Given the description of an element on the screen output the (x, y) to click on. 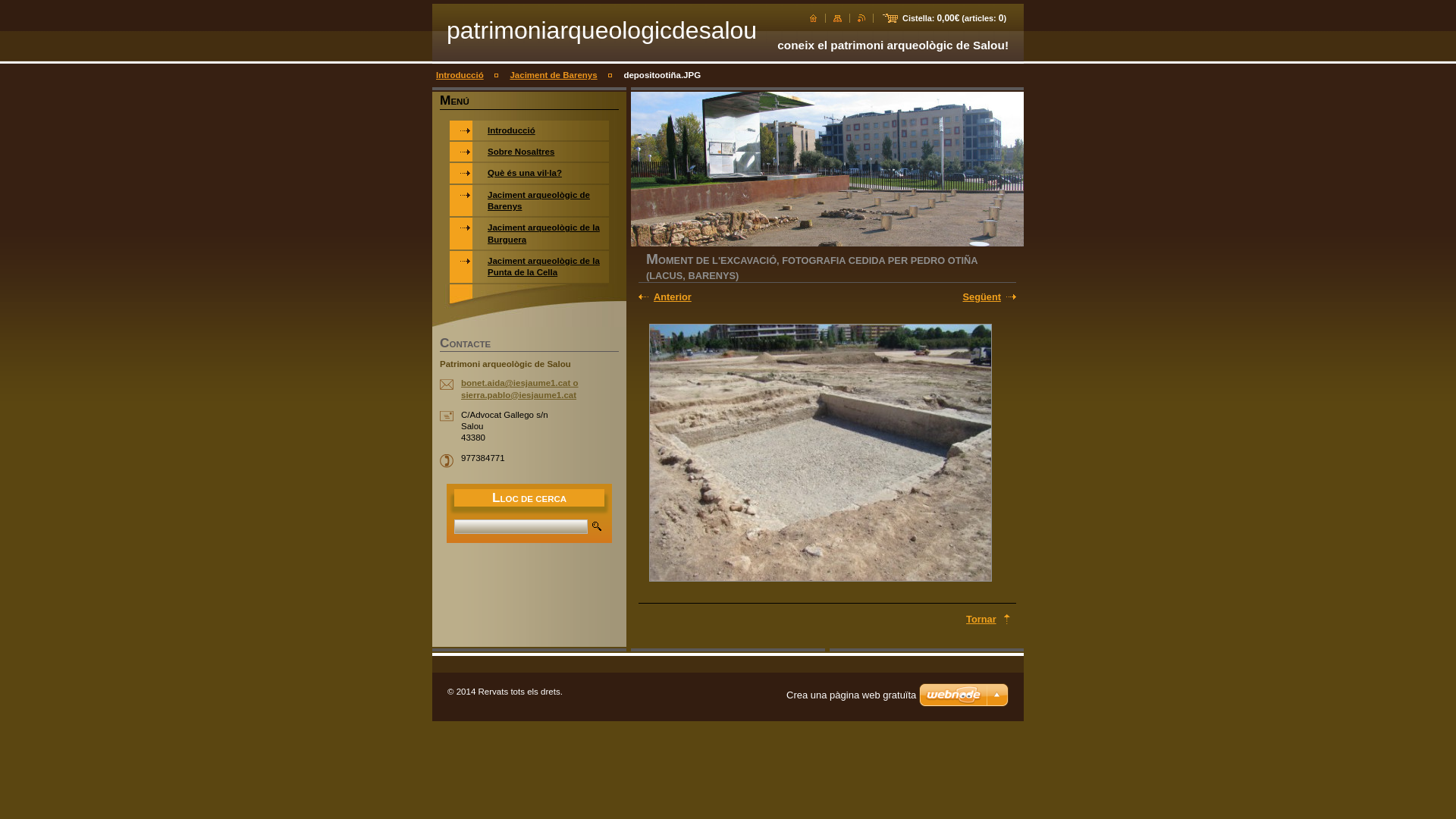
bonet.aida@iesjaume1.cat o sierra.pablo@iesjaume1.cat Element type: text (519, 388)
Jaciment de Barenys Element type: text (552, 74)
patrimoniarqueologicdesalou Element type: text (601, 29)
Anterior Element type: text (694, 296)
  Element type: text (813, 17)
Sobre Nosaltres Element type: text (528, 151)
RSS Feeds Element type: hover (860, 17)
  Element type: text (837, 17)
Anar al mapa web. Element type: hover (837, 17)
Tornar Element type: text (988, 618)
  Element type: text (860, 17)
